Given the description of an element on the screen output the (x, y) to click on. 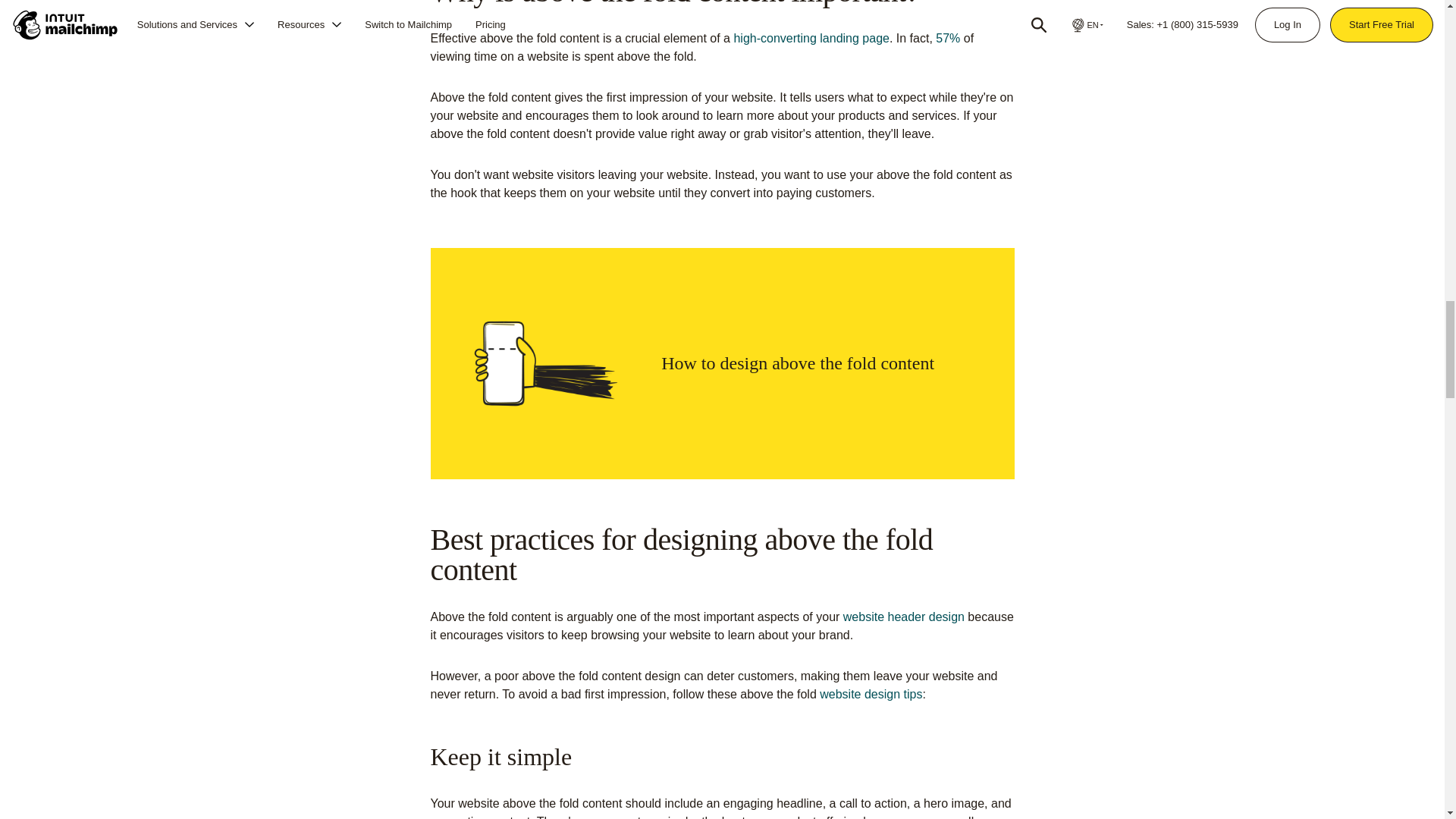
website design tips (870, 694)
website header design (903, 616)
high-converting landing page (810, 38)
